Given the description of an element on the screen output the (x, y) to click on. 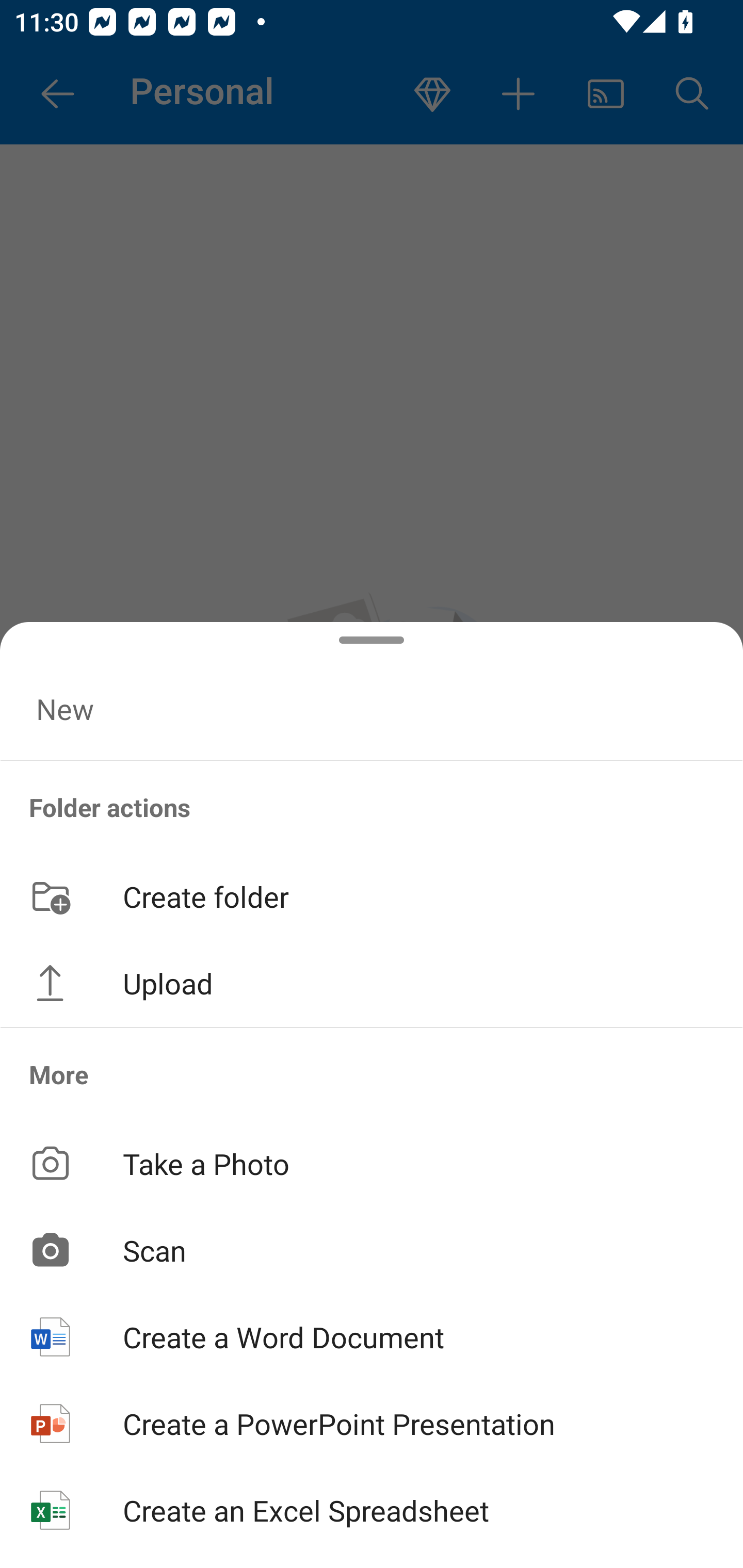
Create folder button Create folder (371, 895)
Upload button Upload (371, 983)
Take a Photo button Take a Photo (371, 1163)
Scan button Scan (371, 1250)
